Given the description of an element on the screen output the (x, y) to click on. 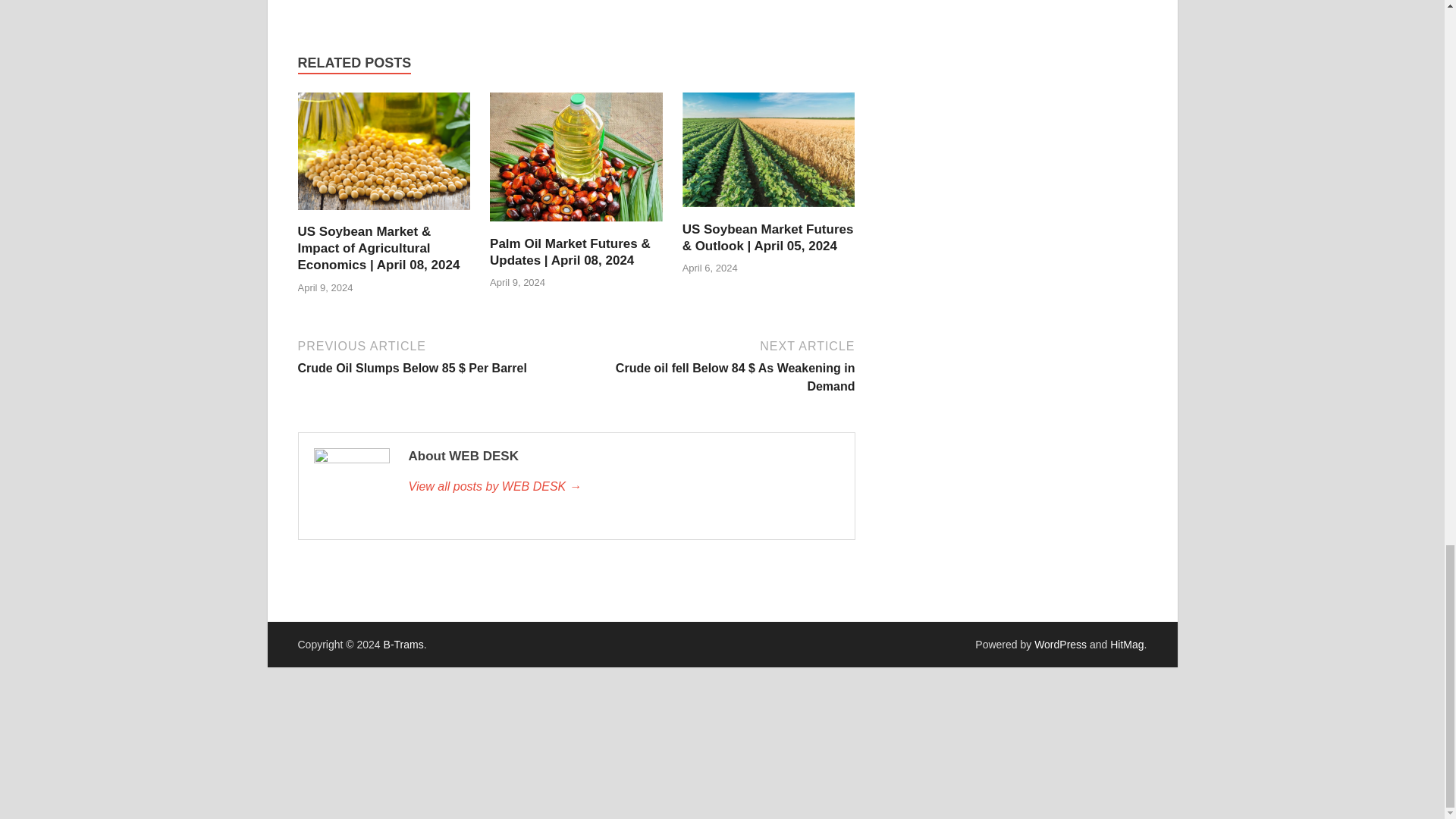
WordPress (1059, 644)
HitMag WordPress Theme (1125, 644)
B-Trams (403, 644)
WEB DESK (622, 486)
